Given the description of an element on the screen output the (x, y) to click on. 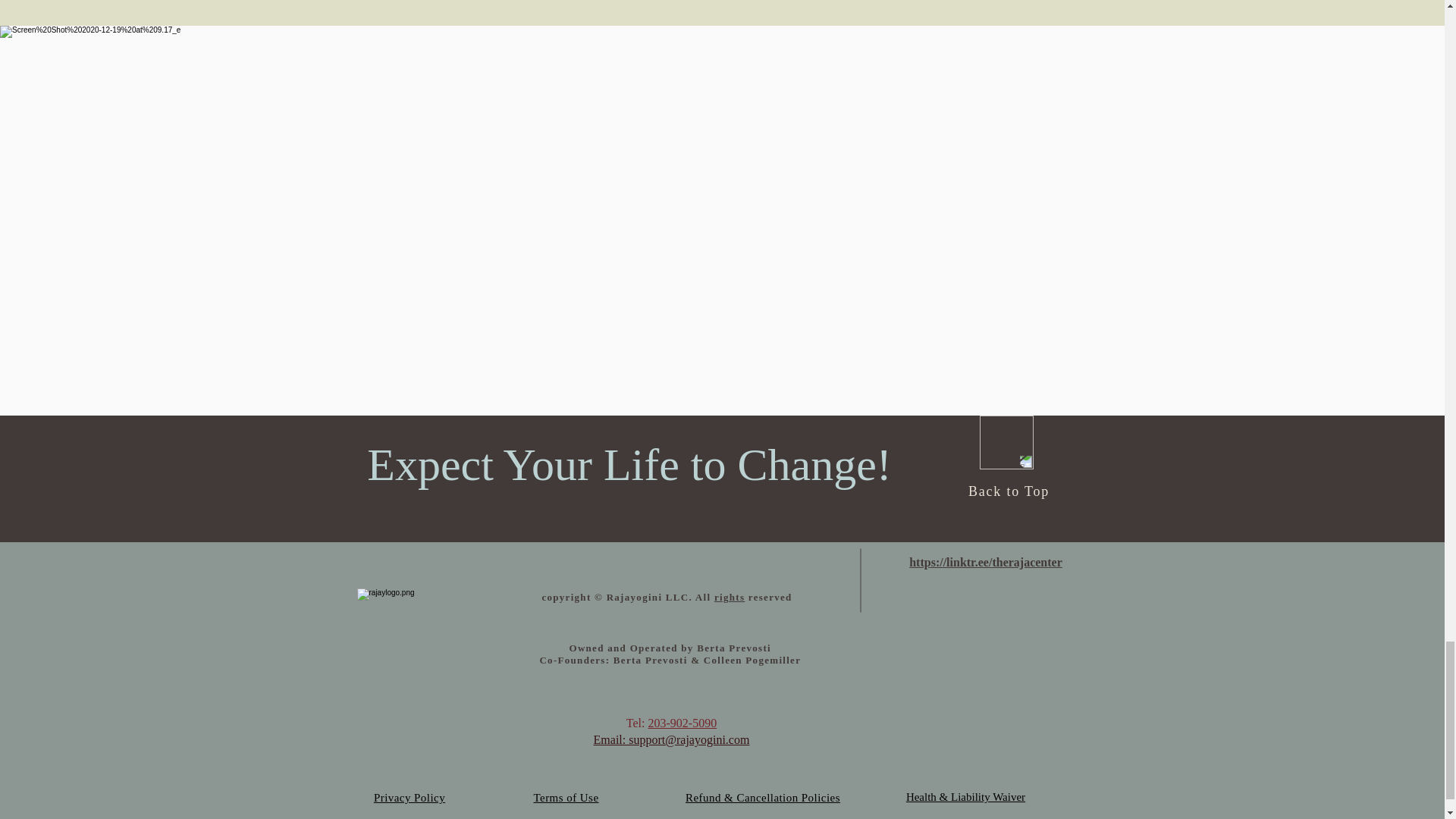
Privacy Policy (409, 797)
203-902-5090 (681, 722)
Terms of Use (566, 797)
Back to Top (1008, 491)
rights (729, 596)
